Given the description of an element on the screen output the (x, y) to click on. 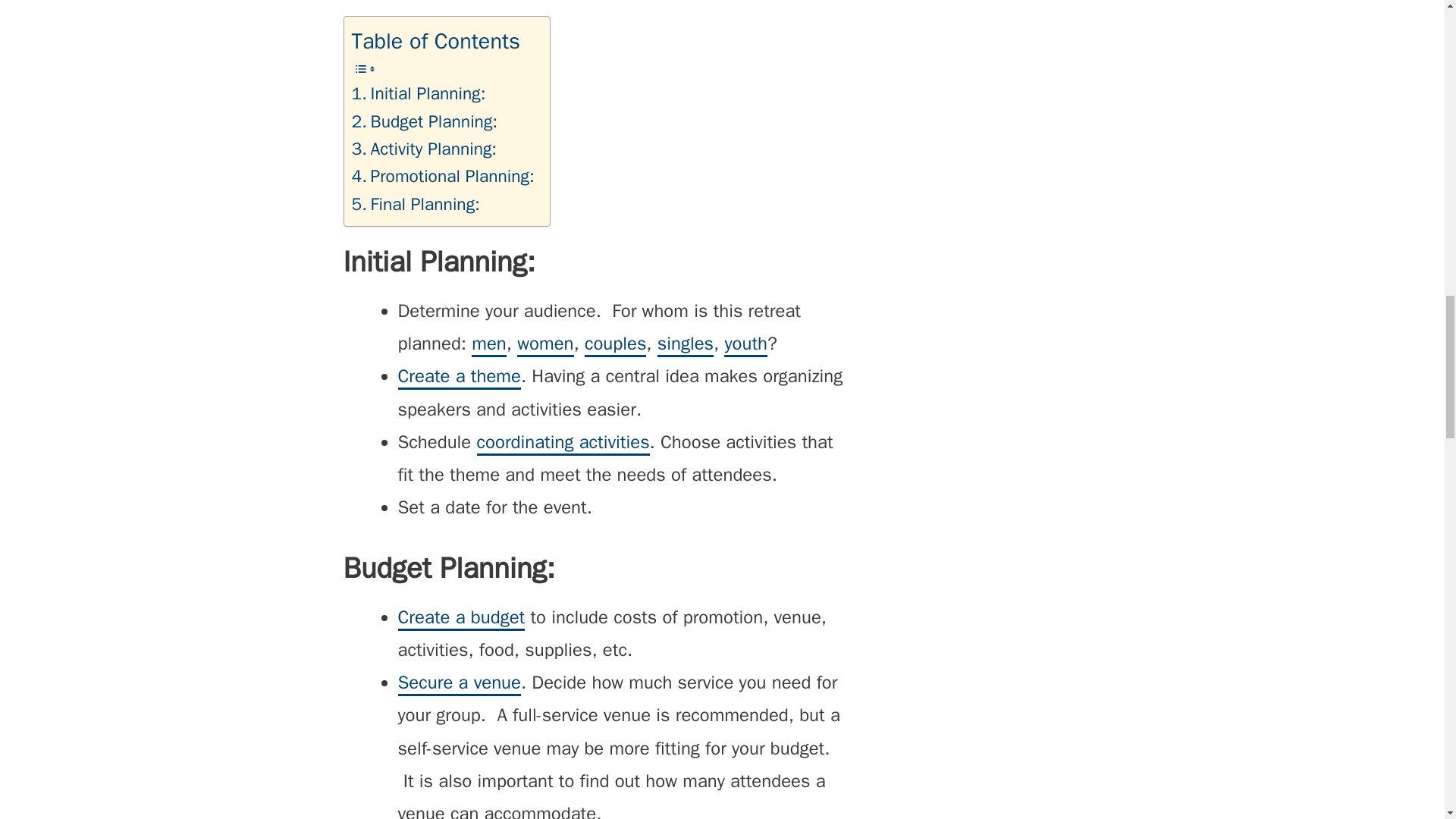
Initial Planning: (419, 93)
Promotional Planning: (443, 176)
women (544, 344)
Activity Planning: (424, 148)
singles (685, 344)
Initial Planning: (419, 93)
Create a theme (458, 376)
Final Planning: (416, 204)
men (488, 344)
Budget Planning: (424, 121)
youth (745, 344)
Activity Planning: (424, 148)
couples (615, 344)
Budget Planning: (424, 121)
Promotional Planning: (443, 176)
